Given the description of an element on the screen output the (x, y) to click on. 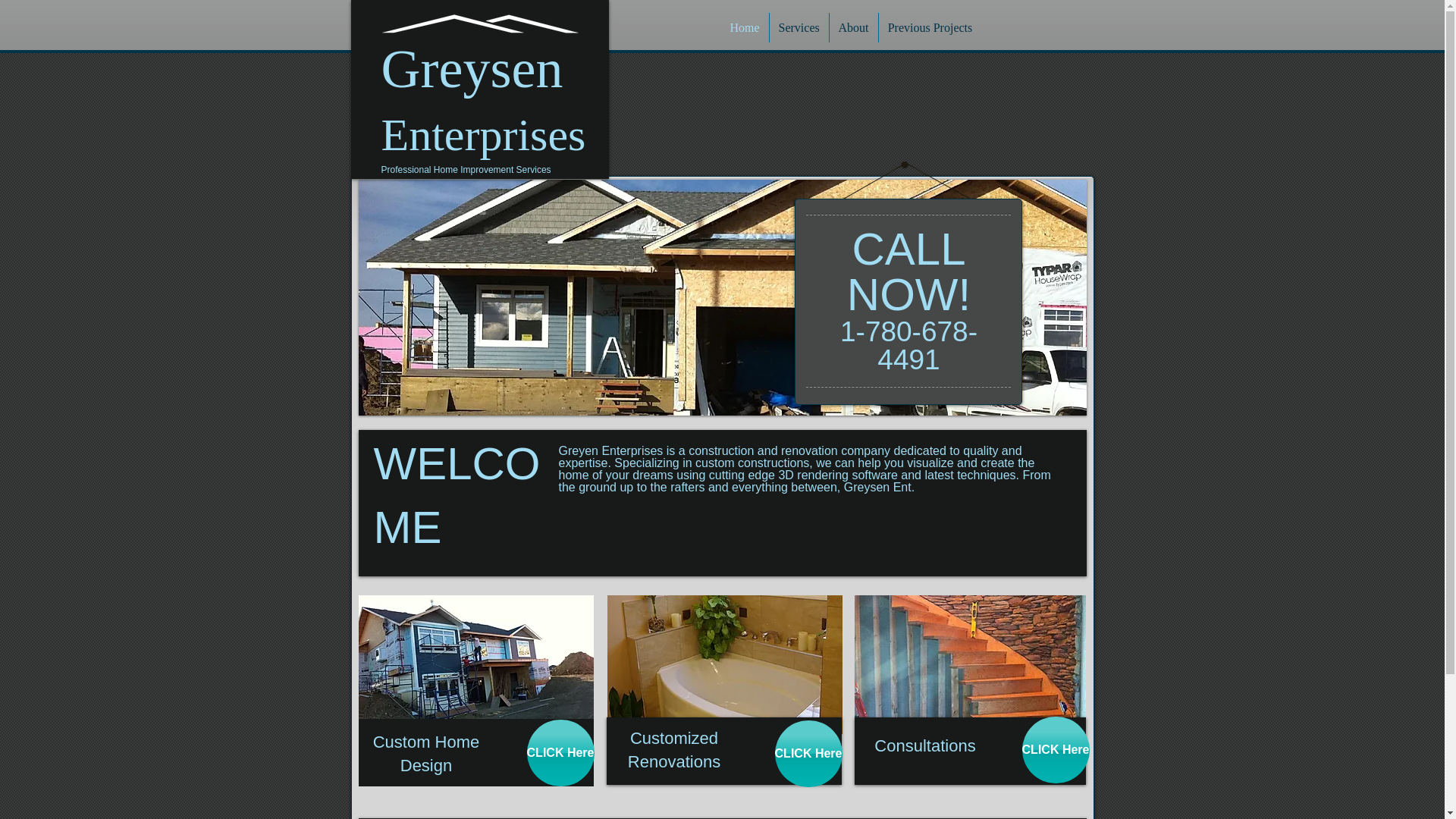
Services (798, 27)
CLICK Here (808, 753)
About (853, 27)
IMGP5752.JPG (724, 664)
CLICK Here (559, 752)
CLICK Here (1055, 749)
Home (744, 27)
Previous Projects (929, 27)
